Given the description of an element on the screen output the (x, y) to click on. 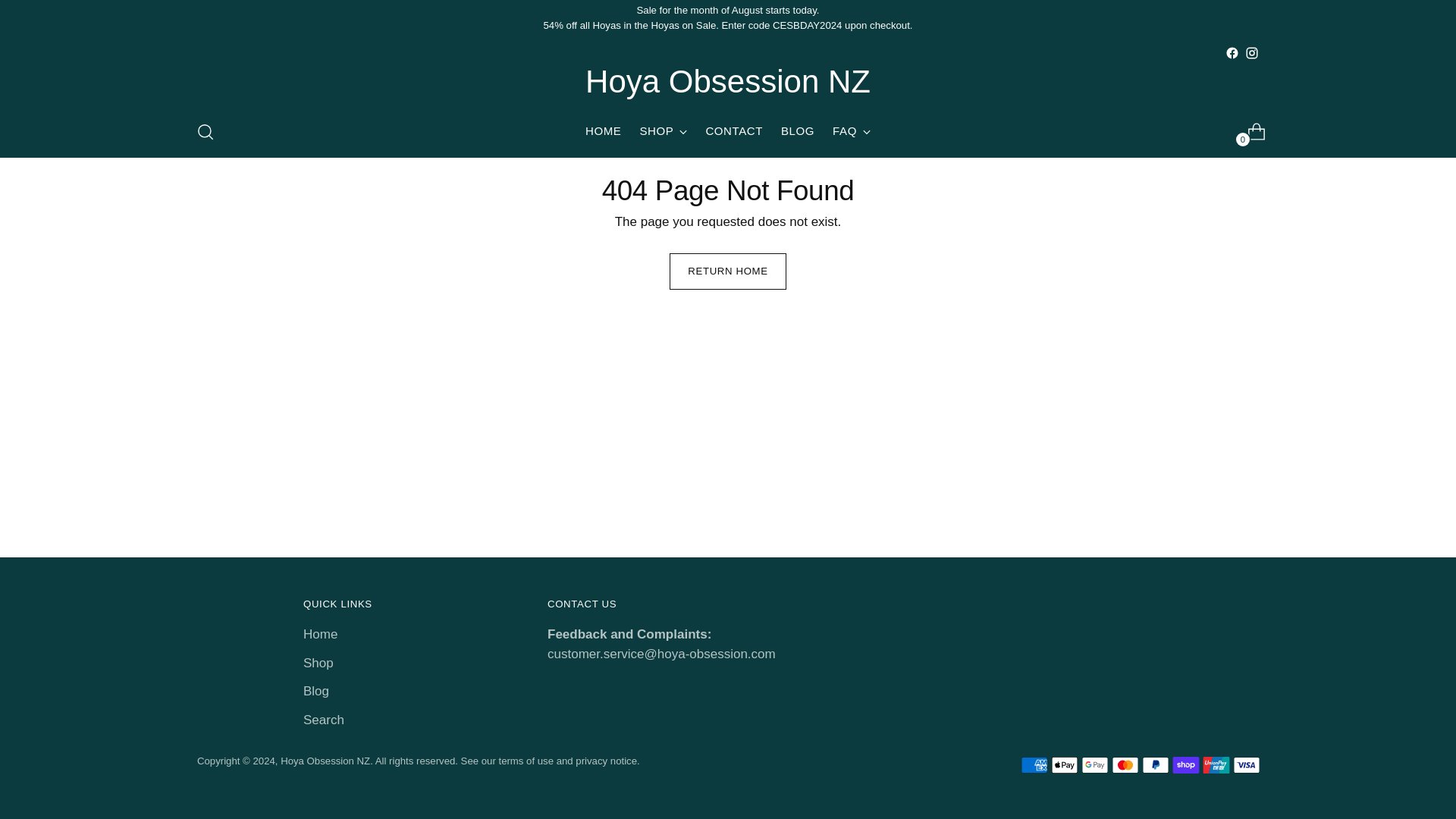
HOME (603, 131)
BLOG (796, 131)
0 (1249, 132)
SHOP (663, 131)
CONTACT (733, 131)
FAQ (851, 131)
Hoya Obsession NZ on Instagram (1251, 52)
Hoya Obsession NZ (727, 132)
Hoya Obsession NZ on Facebook (727, 81)
